Given the description of an element on the screen output the (x, y) to click on. 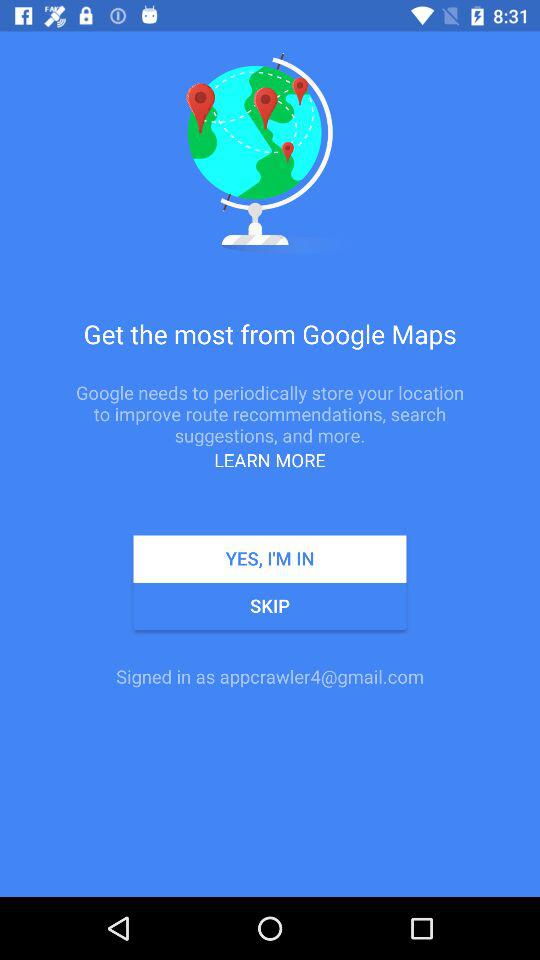
select the yes i m (269, 558)
